Given the description of an element on the screen output the (x, y) to click on. 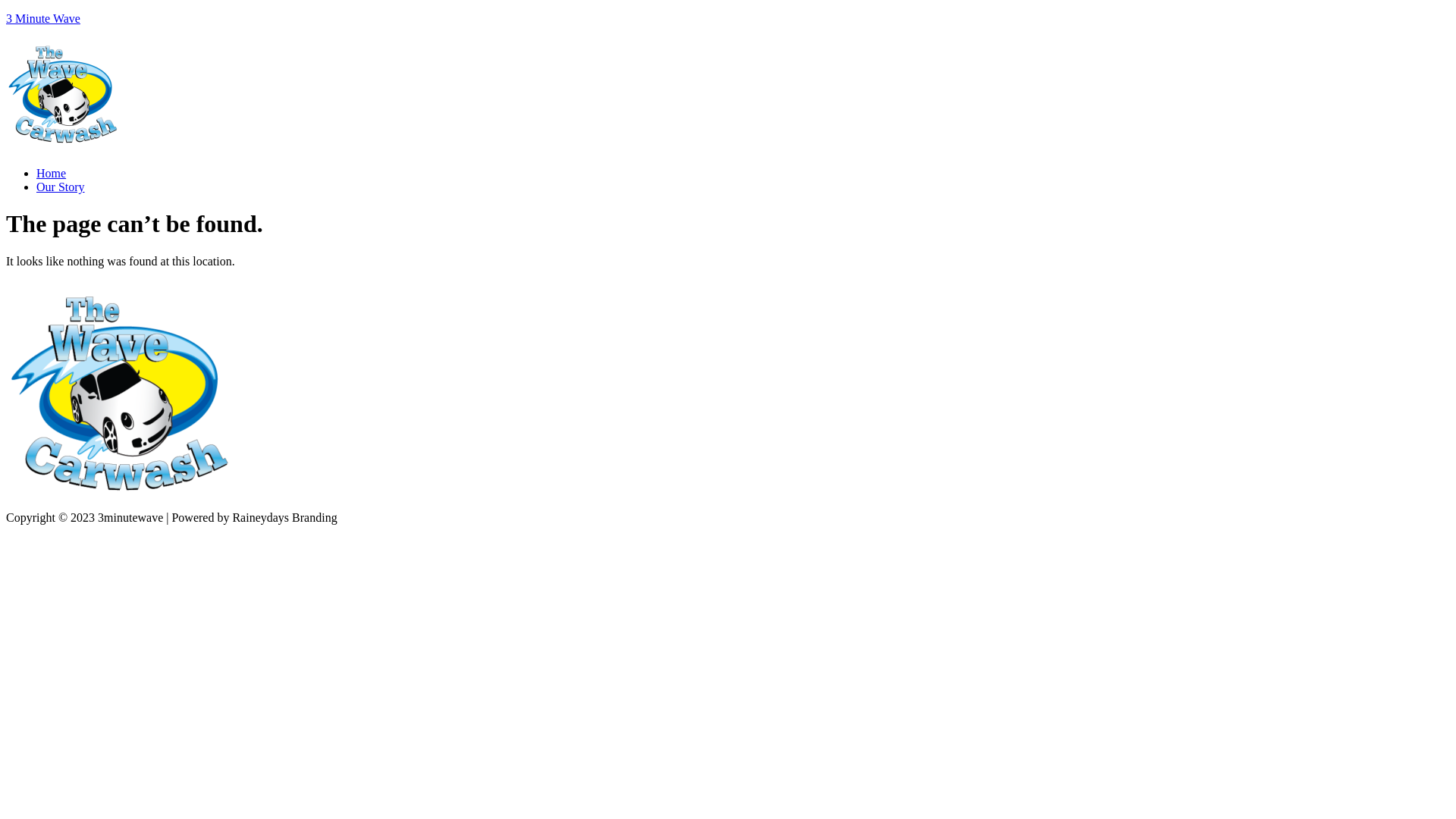
Home Element type: text (50, 172)
3 Minute Wave Element type: text (43, 18)
Our Story Element type: text (60, 186)
